Given the description of an element on the screen output the (x, y) to click on. 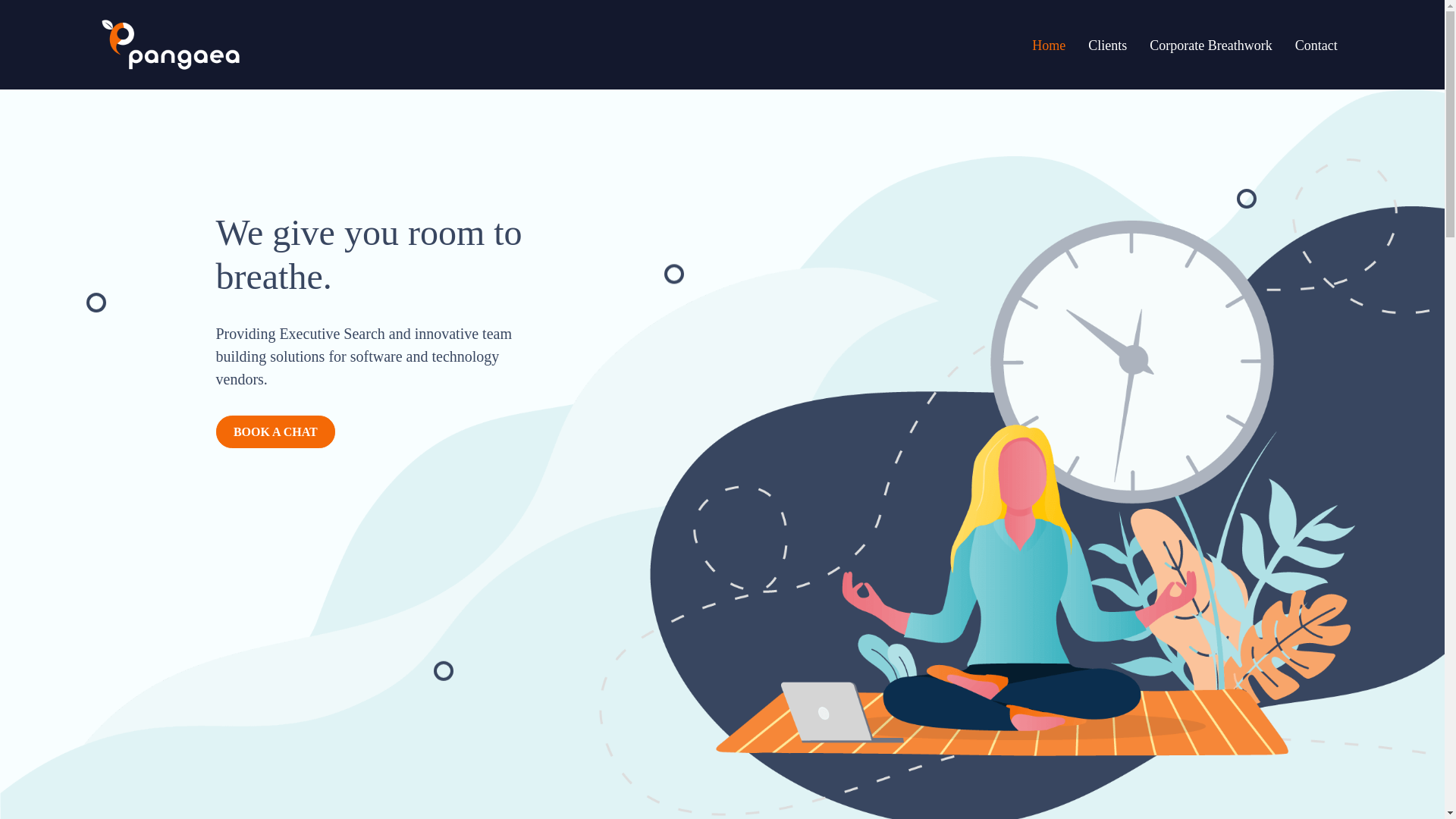
Home (1048, 45)
Contact (1316, 45)
Corporate Breathwork (1210, 45)
Clients (1107, 45)
BOOK A CHAT (274, 431)
